Given the description of an element on the screen output the (x, y) to click on. 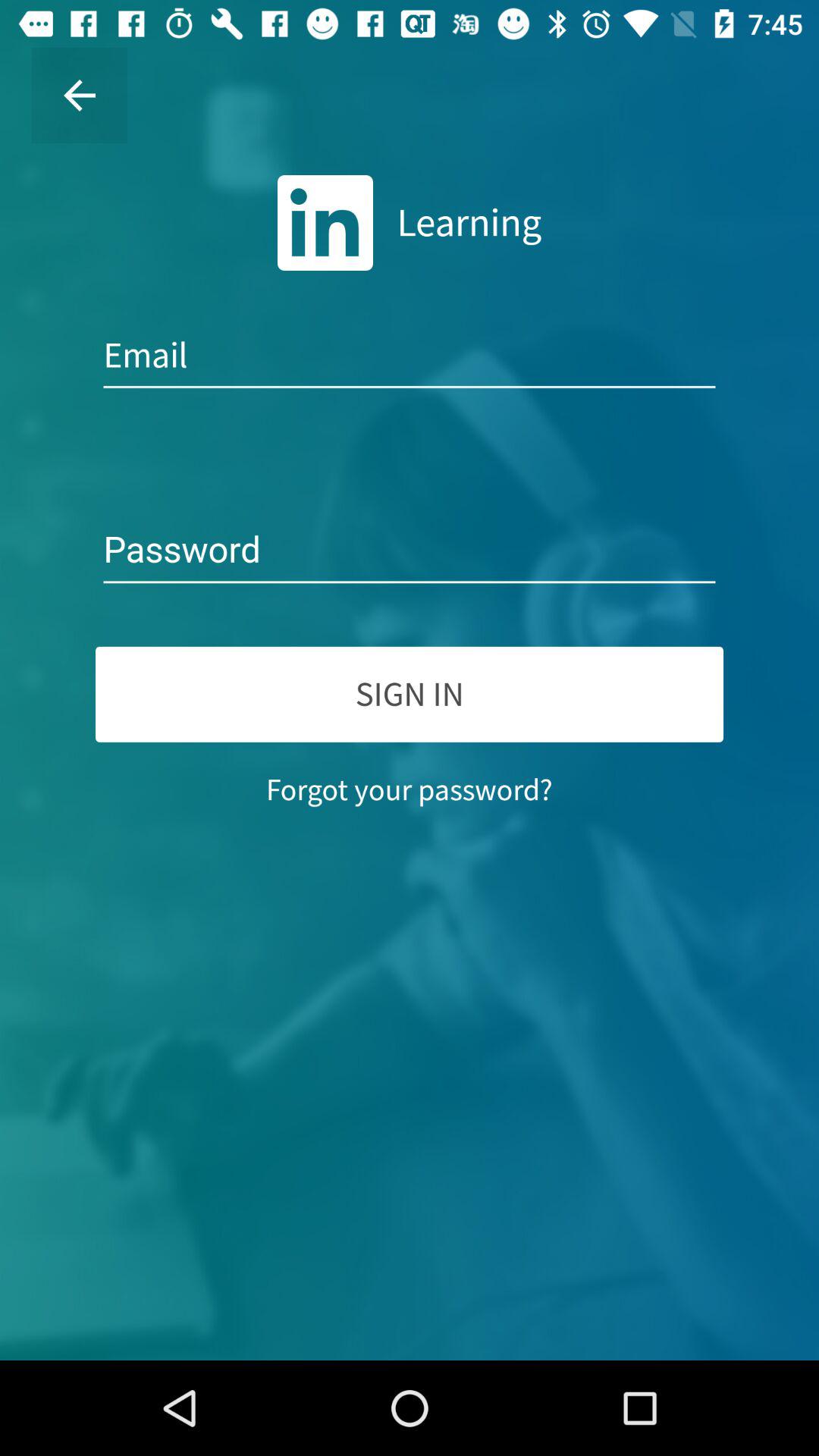
type your input (409, 550)
